Given the description of an element on the screen output the (x, y) to click on. 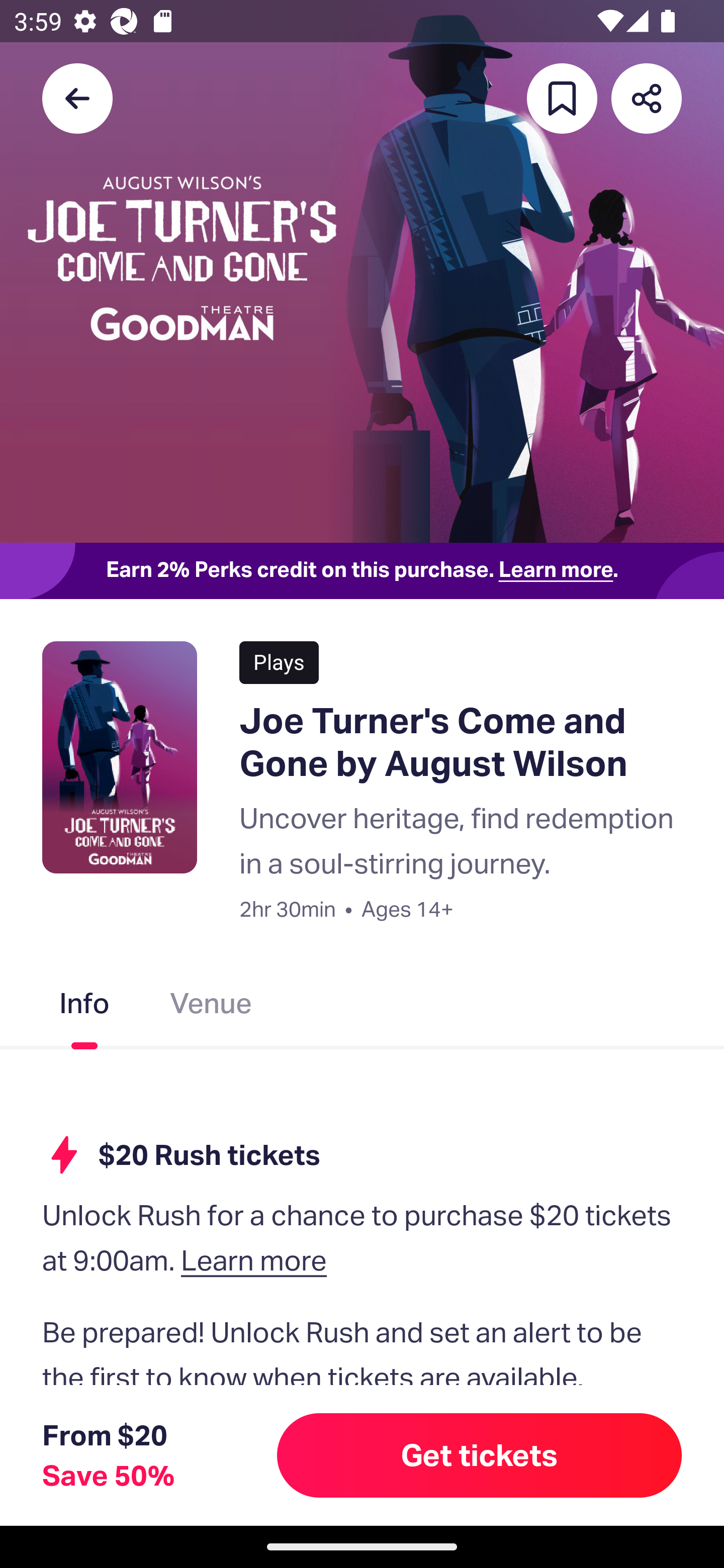
Earn 2% Perks credit on this purchase. Learn more. (362, 570)
Venue (210, 1006)
Get tickets (479, 1454)
Unlock now (303, 1468)
